Given the description of an element on the screen output the (x, y) to click on. 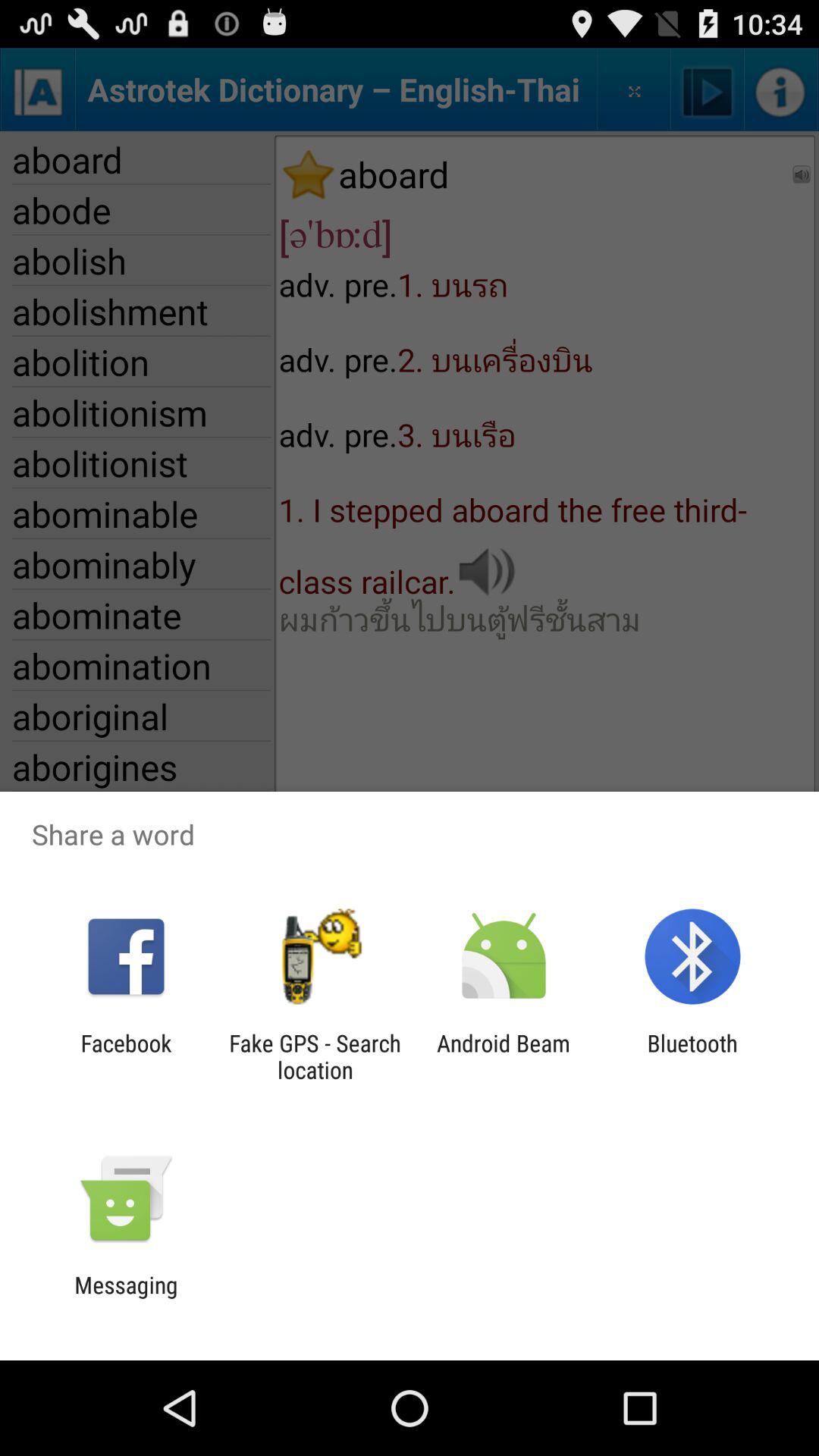
swipe until the messaging app (126, 1298)
